Given the description of an element on the screen output the (x, y) to click on. 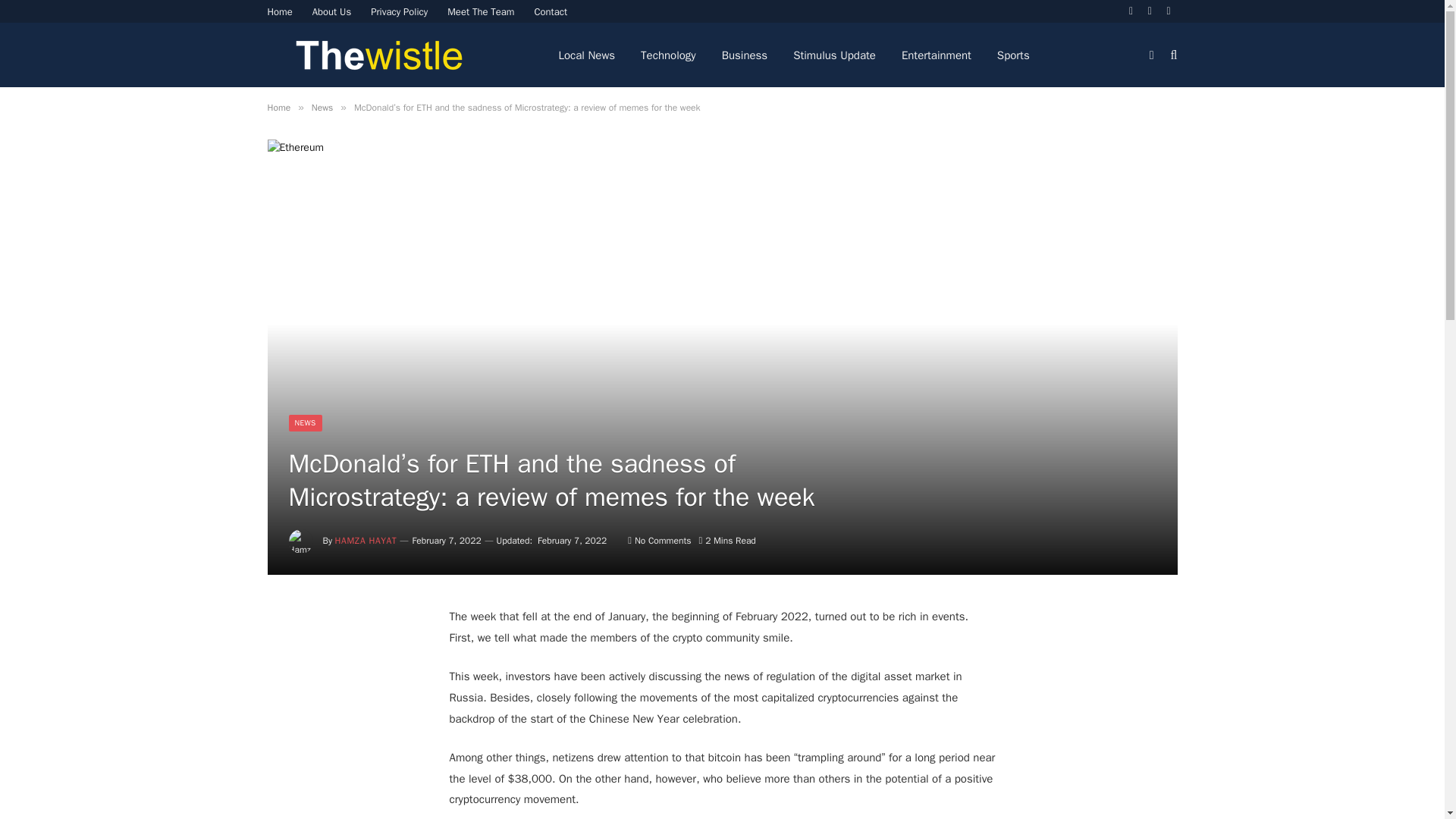
Stimulus Update (834, 54)
Technology (668, 54)
About Us (331, 11)
NEWS (304, 422)
Switch to Dark Design - easier on eyes. (1151, 54)
Contact (551, 11)
HAMZA HAYAT (365, 540)
Home (279, 11)
Local News (587, 54)
Meet The Team (481, 11)
Privacy Policy (399, 11)
News (322, 107)
Posts by Hamza Hayat (365, 540)
Home (277, 107)
Sports (1013, 54)
